Given the description of an element on the screen output the (x, y) to click on. 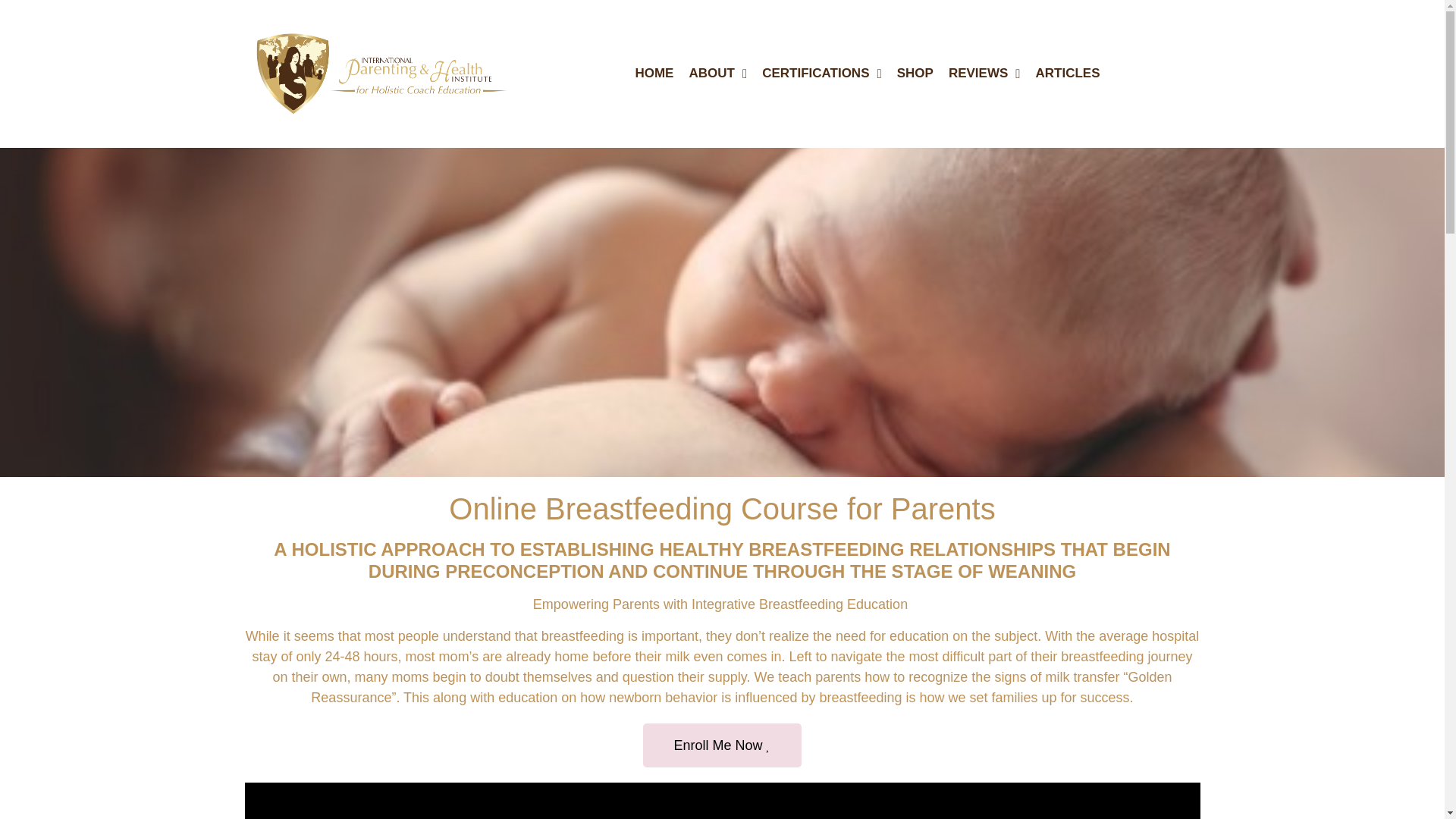
ABOUT (717, 73)
ARTICLES (1067, 73)
vimeo Video Player (721, 800)
HOME (654, 73)
CERTIFICATIONS (821, 73)
SHOP (914, 73)
REVIEWS (983, 73)
